Given the description of an element on the screen output the (x, y) to click on. 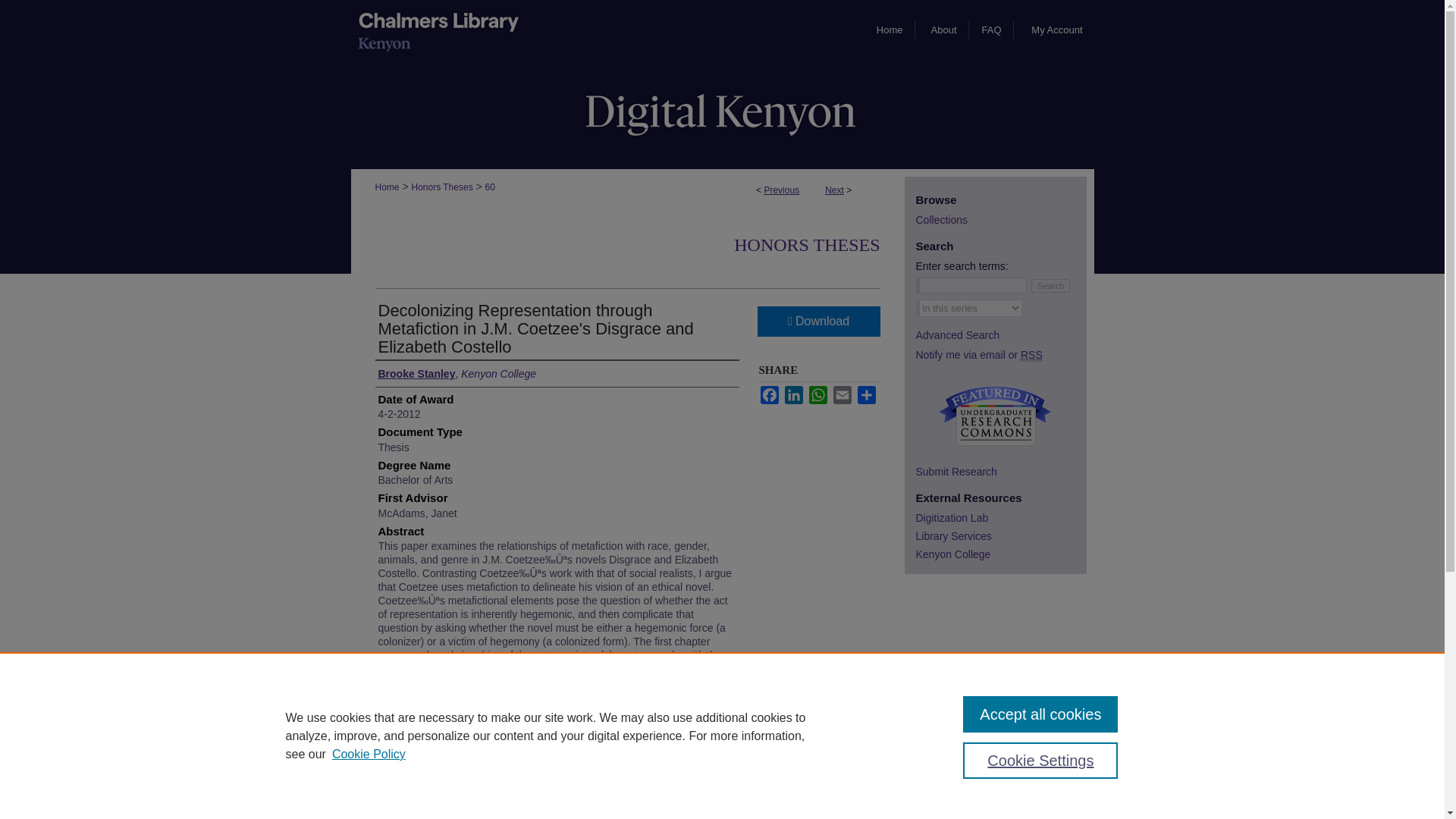
Email or RSS Notifications (1000, 354)
60 (489, 186)
Really Simple Syndication (1031, 354)
Facebook (768, 394)
About (944, 30)
Advanced Search (957, 335)
Submit Research (1000, 471)
Share (866, 394)
About (944, 30)
Undergraduate Research Commons (994, 416)
My Account (1056, 30)
Home (386, 186)
Browse by Collections (1000, 219)
Search (1050, 285)
